Given the description of an element on the screen output the (x, y) to click on. 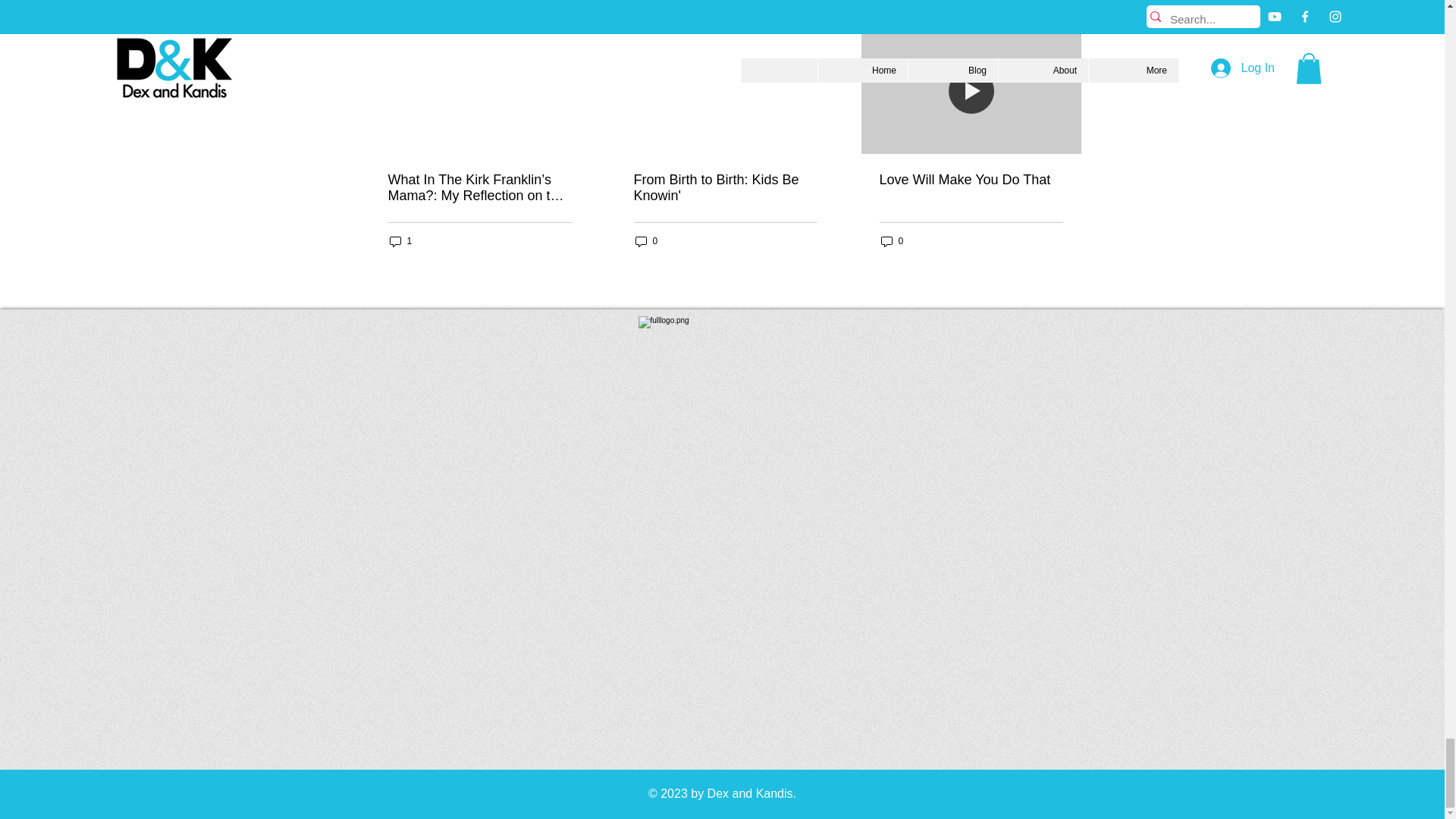
1 (400, 241)
See All (1066, 7)
